Given the description of an element on the screen output the (x, y) to click on. 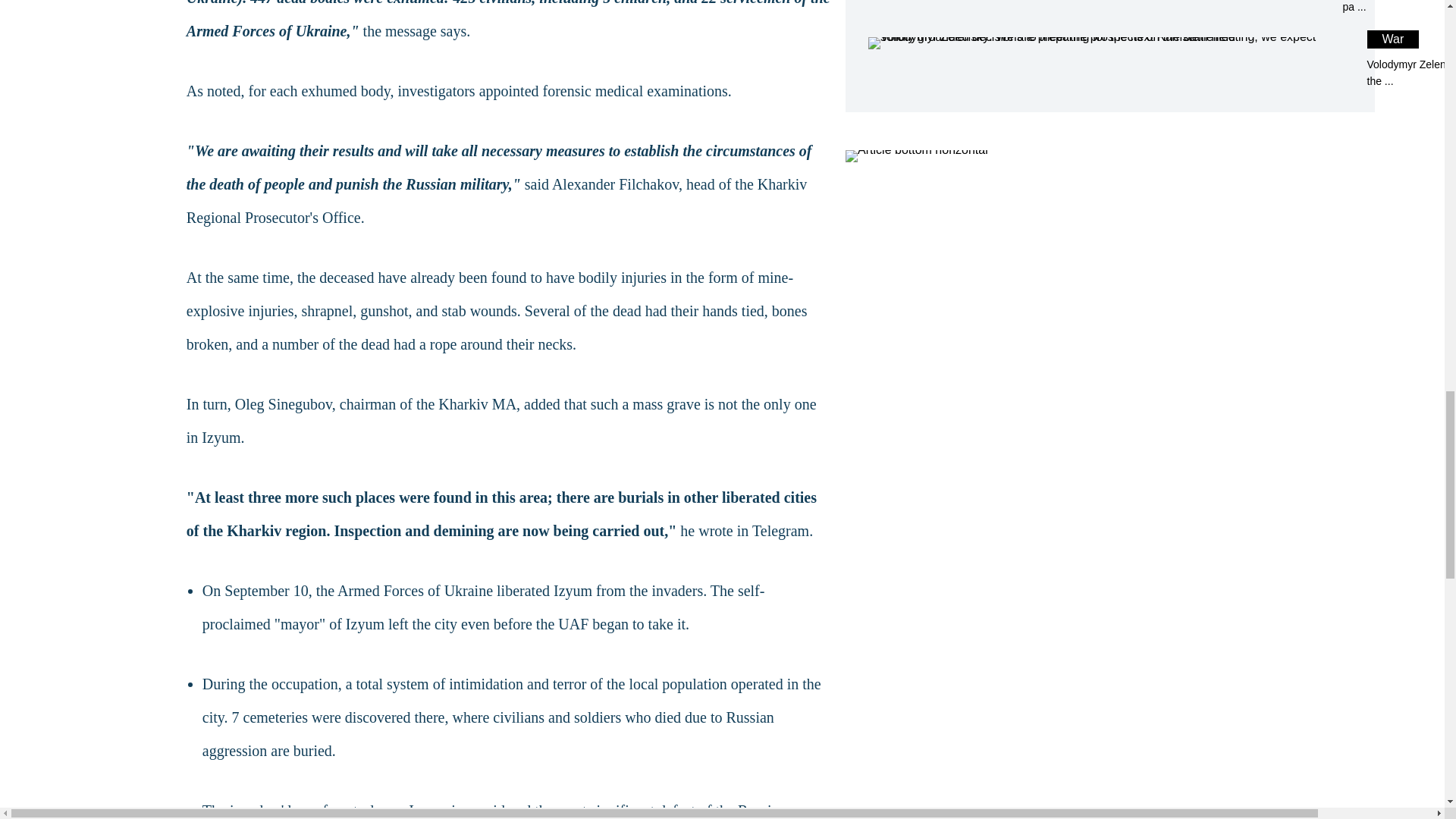
Read (1109, 59)
Read (1109, 59)
